Given the description of an element on the screen output the (x, y) to click on. 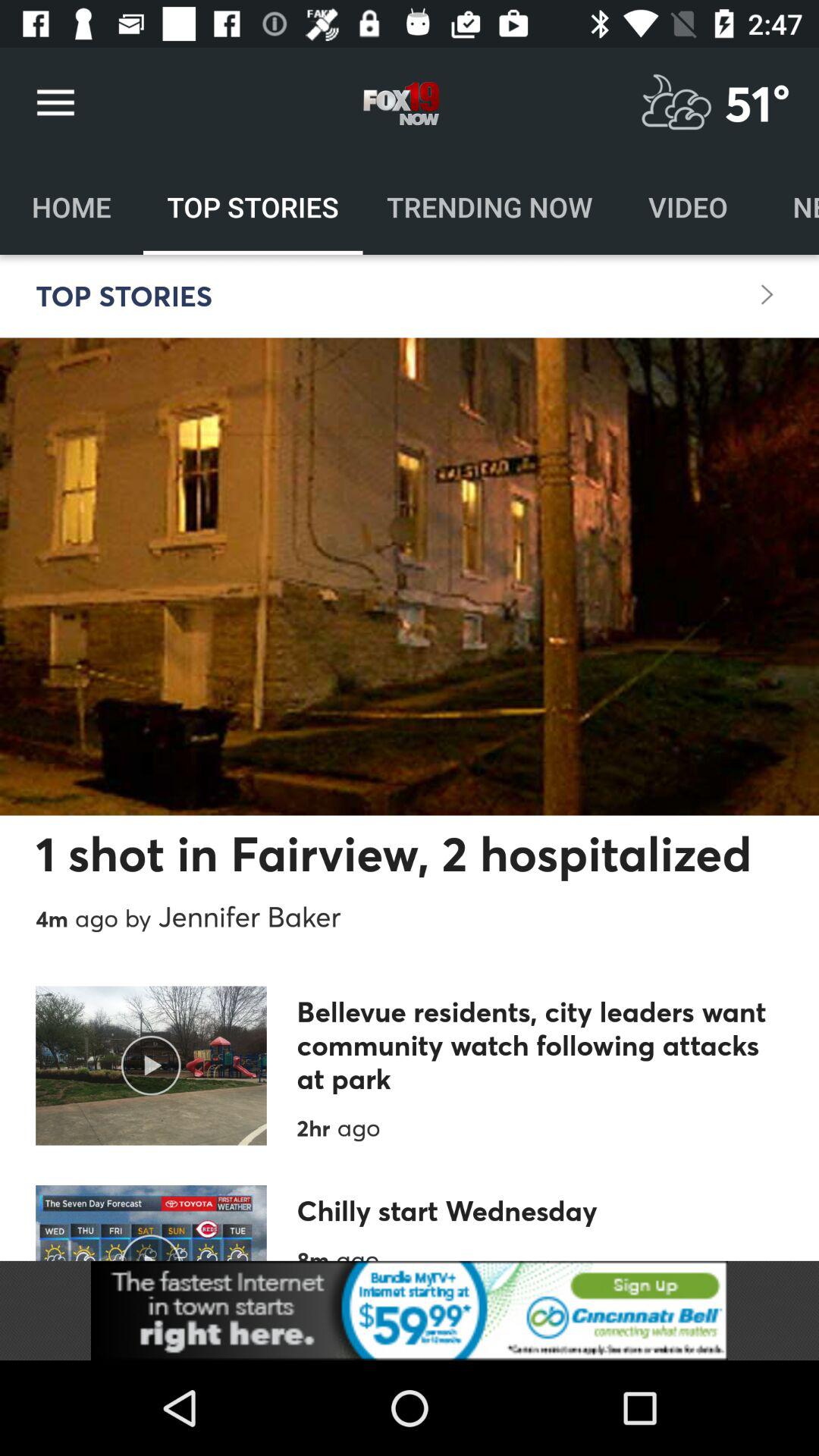
check weather (676, 103)
